Given the description of an element on the screen output the (x, y) to click on. 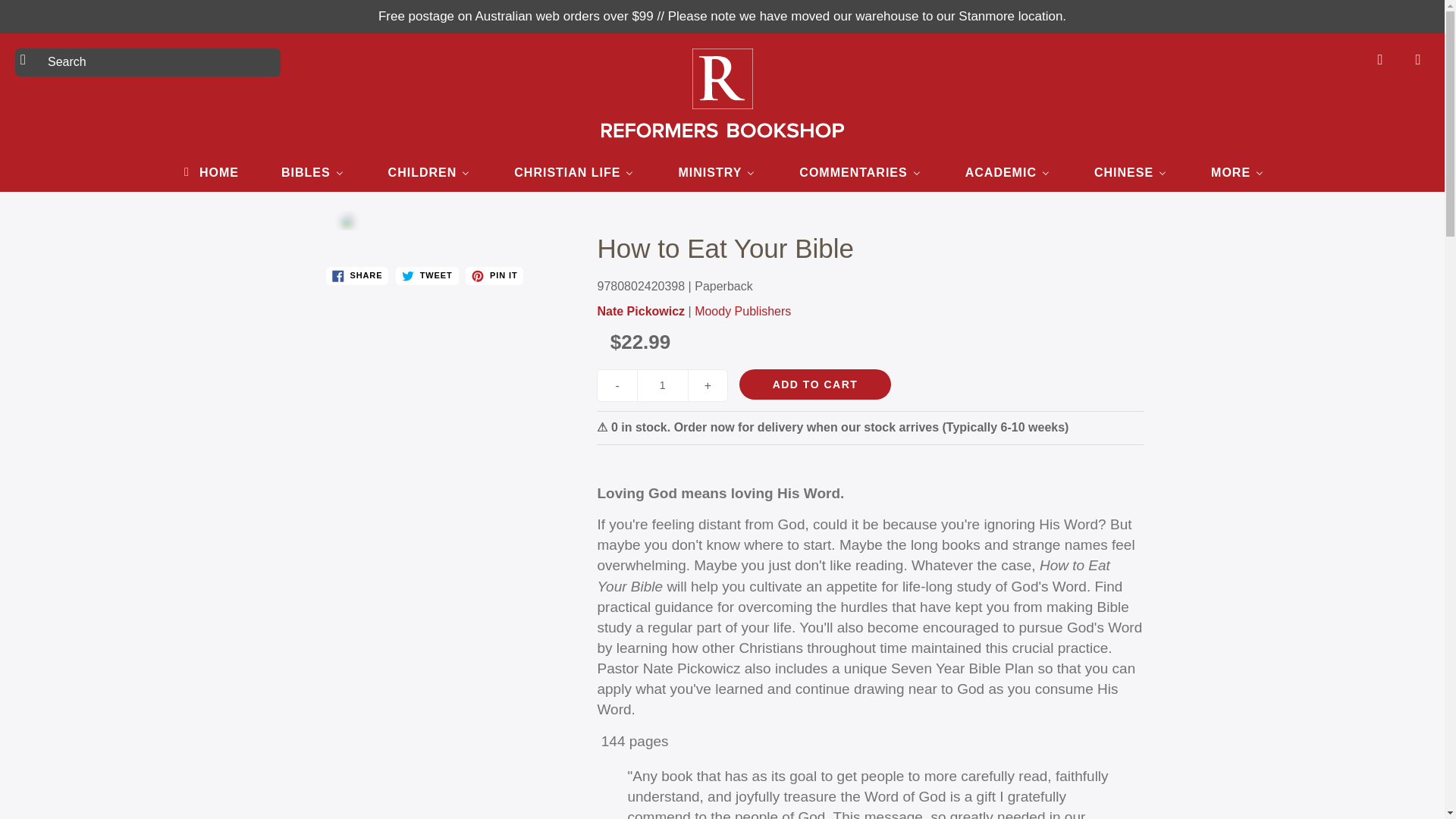
HOME (208, 172)
You have 0 items in your cart (1417, 59)
Search (28, 59)
1 (662, 385)
CHILDREN (429, 172)
My account (1379, 59)
BIBLES (312, 172)
